Given the description of an element on the screen output the (x, y) to click on. 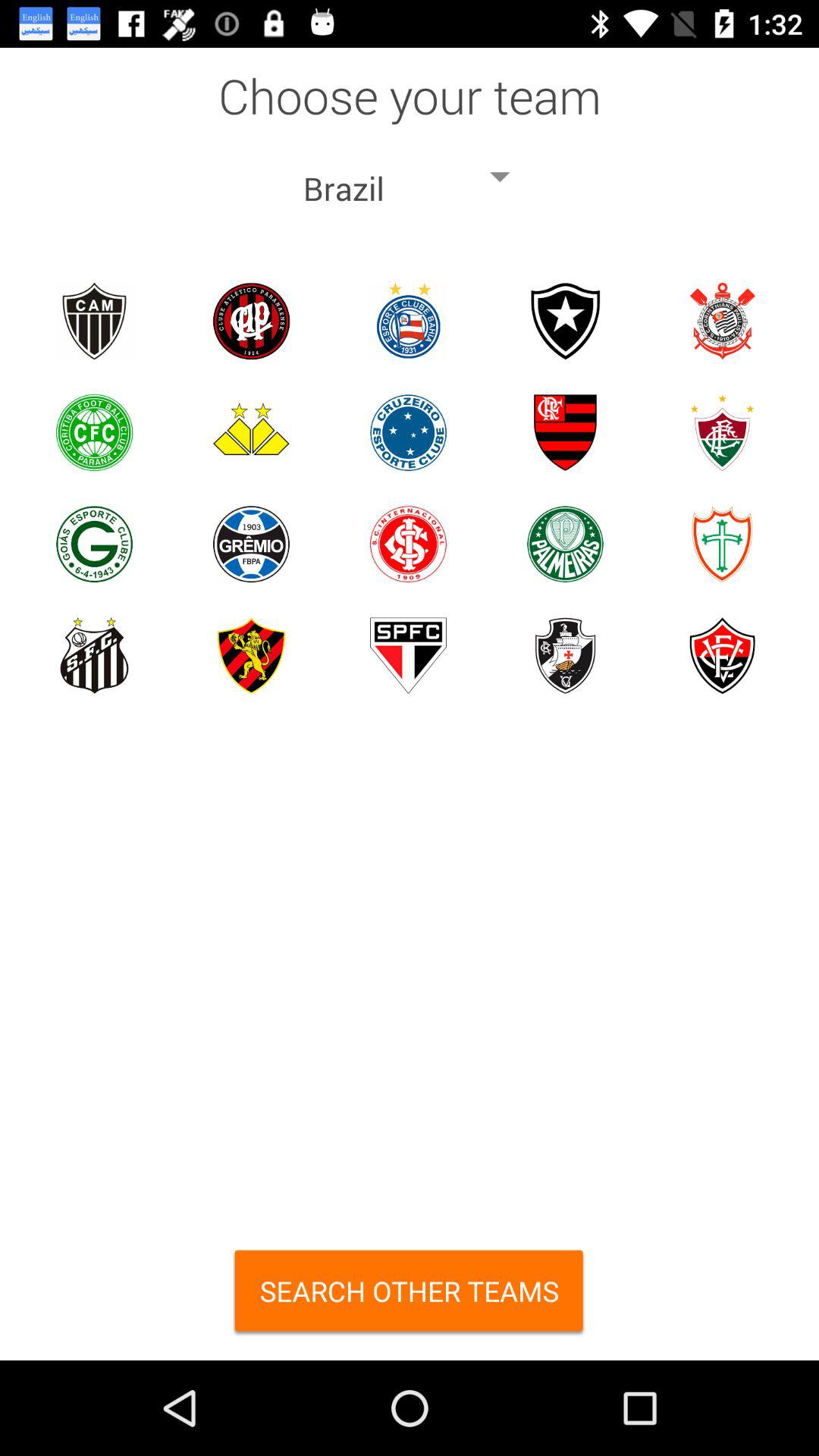
choose team (94, 321)
